Given the description of an element on the screen output the (x, y) to click on. 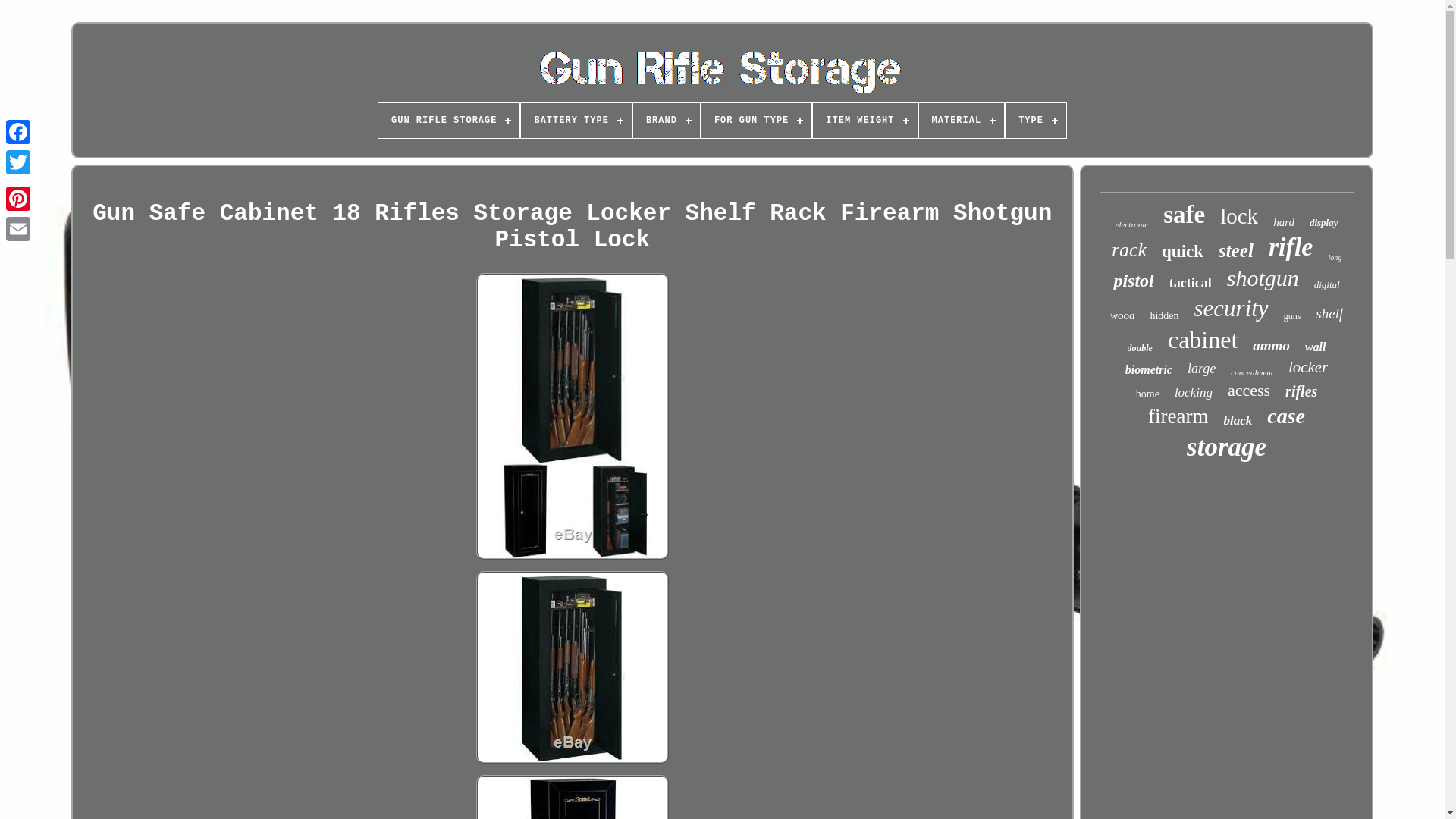
Facebook (17, 132)
GUN RIFLE STORAGE (448, 120)
BRAND (666, 120)
FOR GUN TYPE (755, 120)
BATTERY TYPE (575, 120)
